Given the description of an element on the screen output the (x, y) to click on. 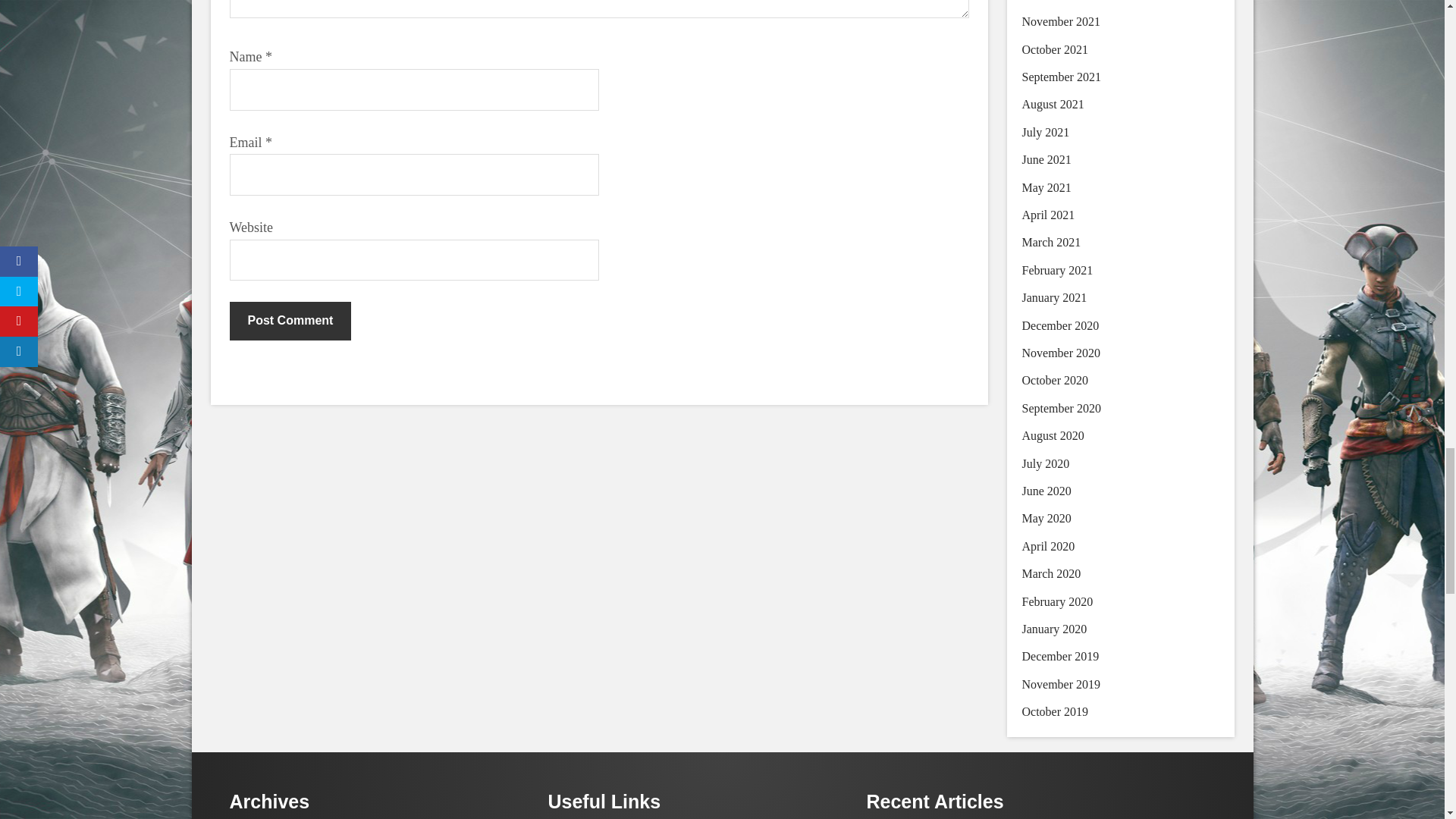
Post Comment (289, 320)
